Given the description of an element on the screen output the (x, y) to click on. 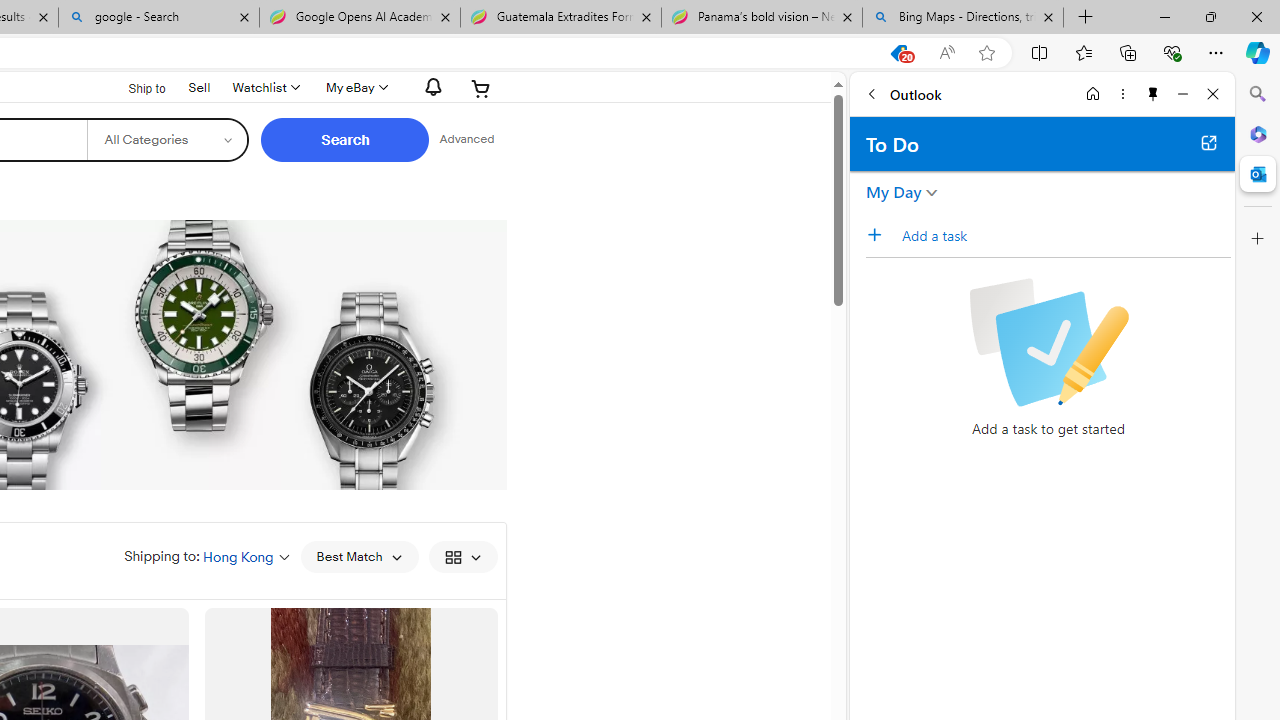
Checkbox with a pencil (1047, 342)
View: Gallery View (462, 556)
My Day (893, 191)
Select a category for search (167, 139)
Open in new tab (1208, 142)
Watchlist (264, 88)
